Given the description of an element on the screen output the (x, y) to click on. 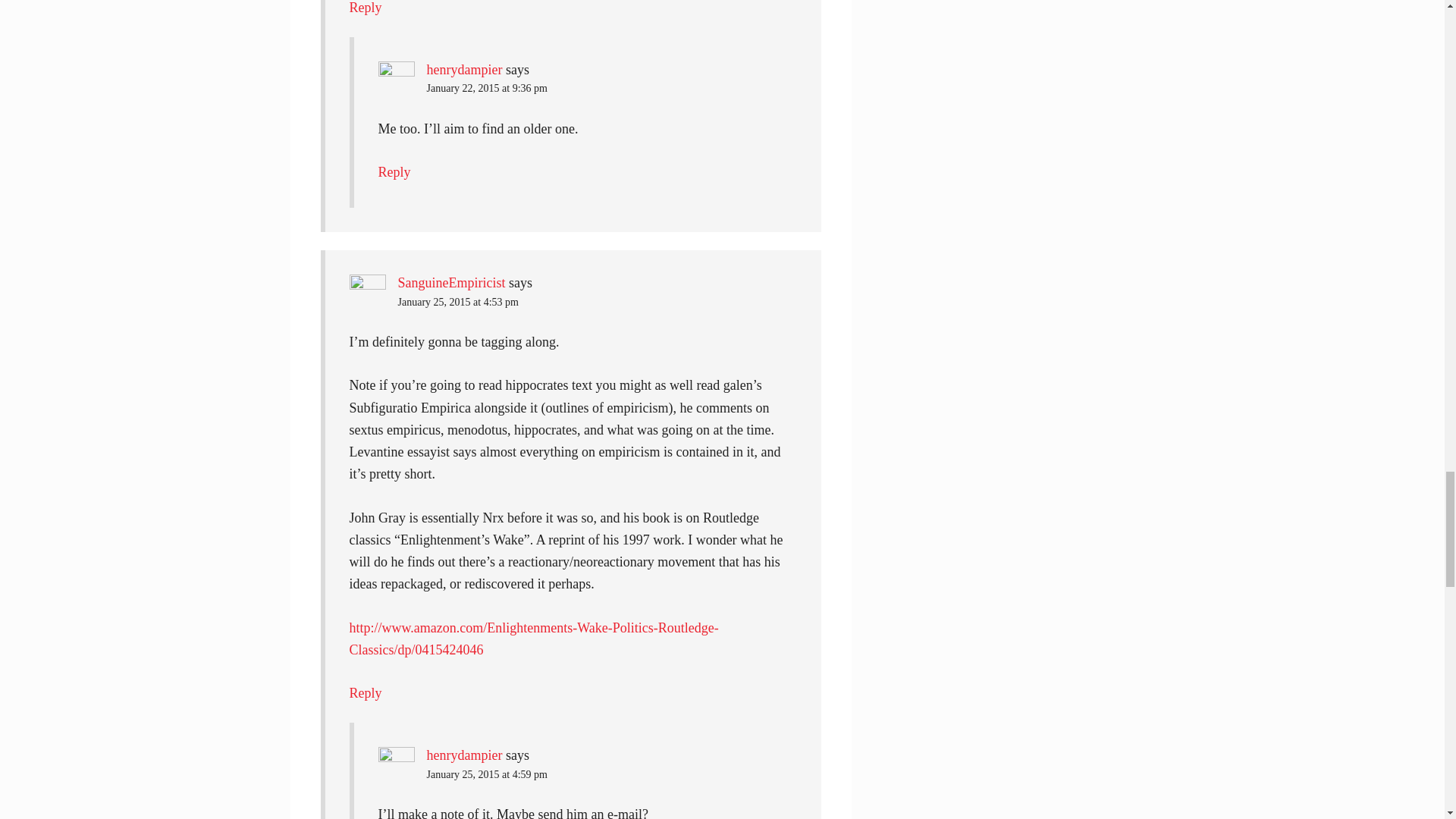
SanguineEmpiricist (451, 282)
Reply (393, 171)
henrydampier (464, 69)
Reply (365, 693)
Reply (365, 7)
January 22, 2015 at 9:36 pm (486, 88)
January 25, 2015 at 4:53 pm (457, 301)
